Given the description of an element on the screen output the (x, y) to click on. 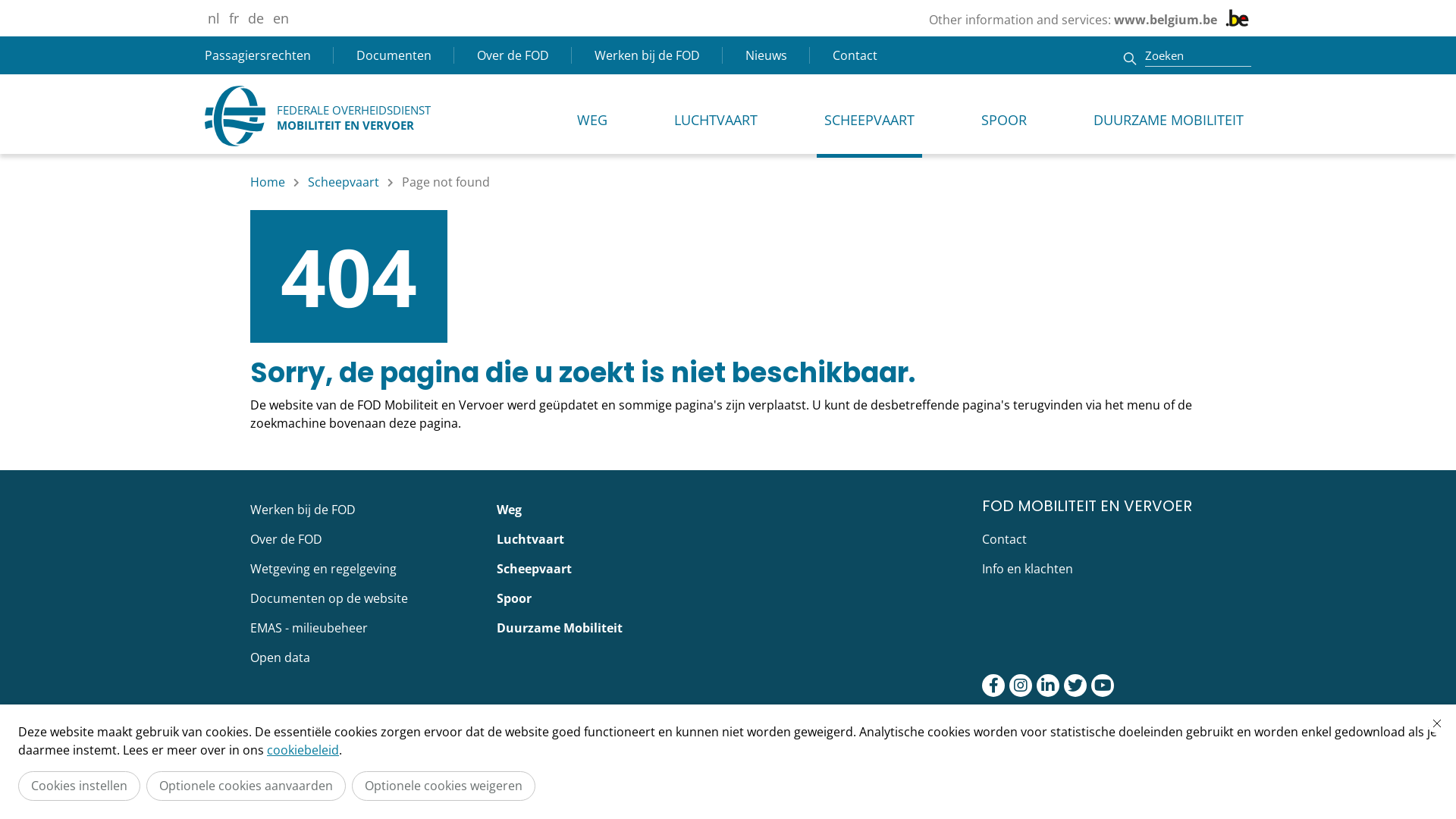
Info en klachten Element type: text (1093, 568)
Social Media Charter Element type: text (953, 751)
Contact Element type: text (1093, 539)
en Element type: text (280, 17)
Disclaimer Element type: text (280, 751)
Scheepvaart Element type: text (343, 181)
Luchtvaart Element type: text (727, 539)
Passagiersrechten Element type: text (263, 54)
FOD MOBILITEIT EN VERVOER Element type: text (1093, 505)
Twitter Element type: text (1074, 685)
cookiebeleid Element type: text (302, 749)
Privacy Element type: text (356, 751)
Over de FOD Element type: text (361, 539)
Spoor Element type: text (727, 598)
Over de FOD Element type: text (512, 54)
Facebook Element type: text (993, 685)
Weg Element type: text (727, 509)
Sluiten Element type: hover (1436, 723)
LinkedIn Element type: text (1047, 685)
Zoeken Element type: hover (1198, 54)
Youtube Element type: text (1102, 685)
Werken bij de FOD Element type: text (361, 509)
Wetgeving en regelgeving Element type: text (361, 568)
Werken bij de FOD Element type: text (647, 54)
Open data Element type: text (361, 657)
Toepassen Element type: text (1129, 58)
Home Element type: text (267, 181)
Optionele cookies weigeren Element type: text (443, 785)
Skip to main content Element type: text (7, 7)
DUURZAME MOBILITEIT Element type: text (1168, 115)
SCHEEPVAART Element type: text (869, 115)
EMAS - milieubeheer Element type: text (361, 627)
nl Element type: text (213, 17)
FEDERALE OVERHEIDSDIENST
MOBILITEIT EN VERVOER Element type: text (317, 115)
Nieuws Element type: text (766, 54)
WEG Element type: text (592, 115)
Optionele cookies aanvaarden Element type: text (245, 785)
Documenten op de website Element type: text (361, 598)
Toegankelijkheidsverklaring Element type: text (789, 751)
Contact Element type: text (849, 54)
LUCHTVAART Element type: text (715, 115)
Duurzame Mobiliteit Element type: text (727, 627)
SPOOR Element type: text (1003, 115)
Cookies instellen Element type: text (79, 785)
Documenten Element type: text (393, 54)
www.belgium.be Element type: text (1165, 19)
Deontologisch kader Element type: text (462, 751)
de Element type: text (255, 17)
Algemene voorwaarden Element type: text (616, 751)
fr Element type: text (233, 17)
Scheepvaart Element type: text (727, 568)
Instagram Element type: text (1020, 685)
